Given the description of an element on the screen output the (x, y) to click on. 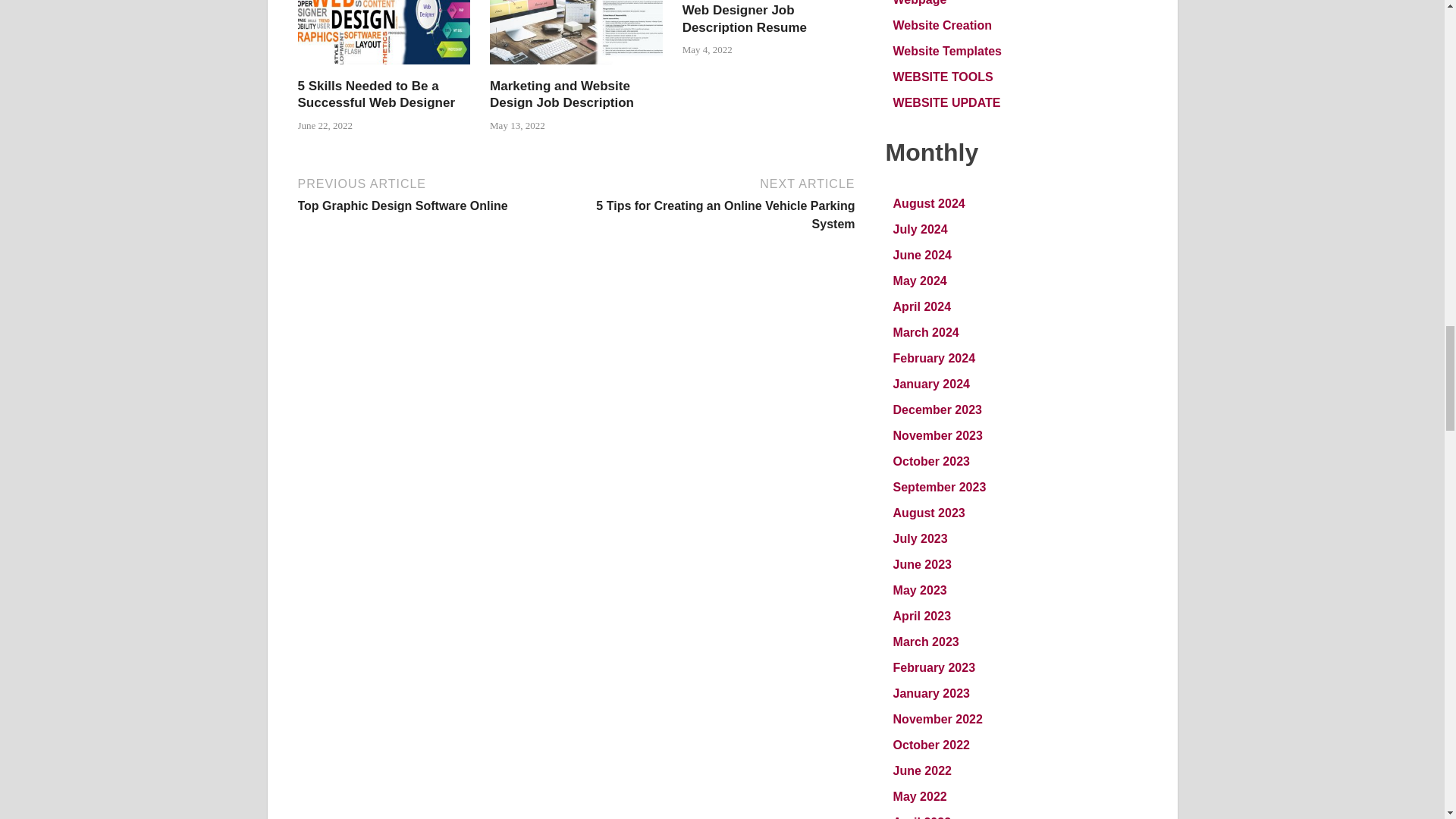
5 Skills Needed to Be a Successful Web Designer (375, 93)
5 Skills Needed to Be a Successful Web Designer (383, 68)
Web Designer Job Description Resume (744, 18)
Marketing and Website Design Job Description (561, 93)
Marketing and Website Design Job Description (575, 68)
